Given the description of an element on the screen output the (x, y) to click on. 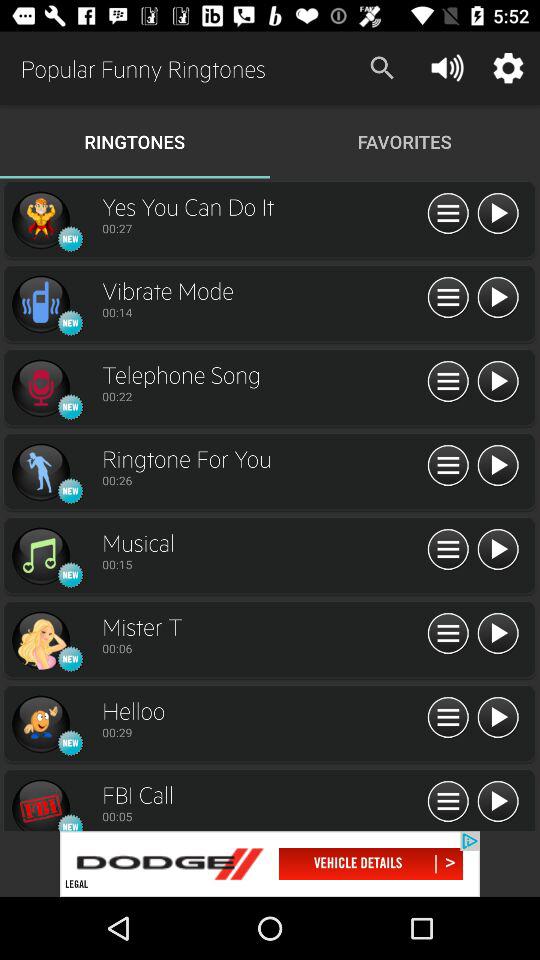
show all information available (447, 633)
